Given the description of an element on the screen output the (x, y) to click on. 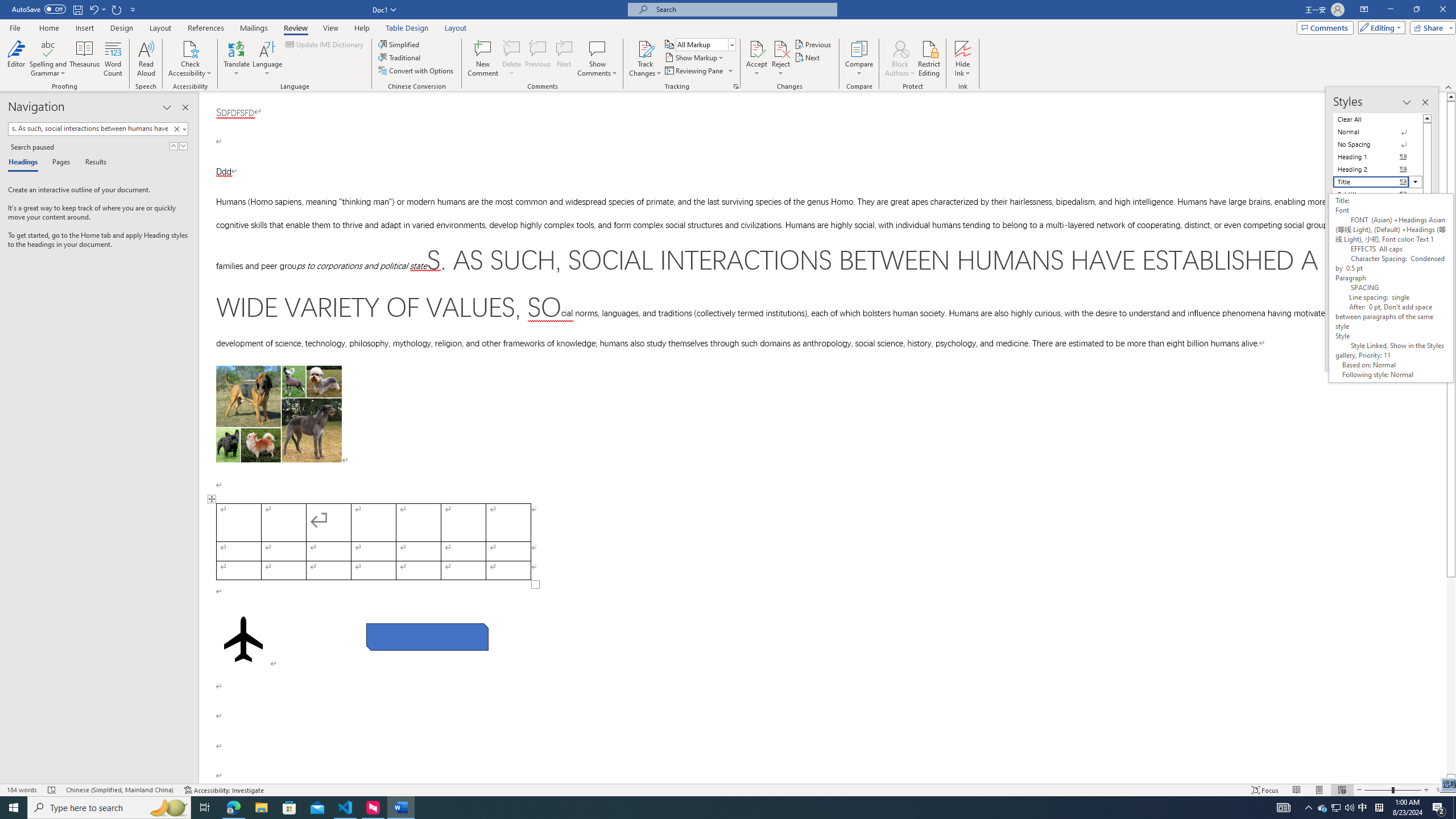
Delete (511, 48)
Thesaurus... (84, 58)
Simplified (400, 44)
Block Authors (900, 48)
Traditional (400, 56)
Show Markup (695, 56)
List Paragraph (1377, 319)
Spelling and Grammar (48, 48)
